Given the description of an element on the screen output the (x, y) to click on. 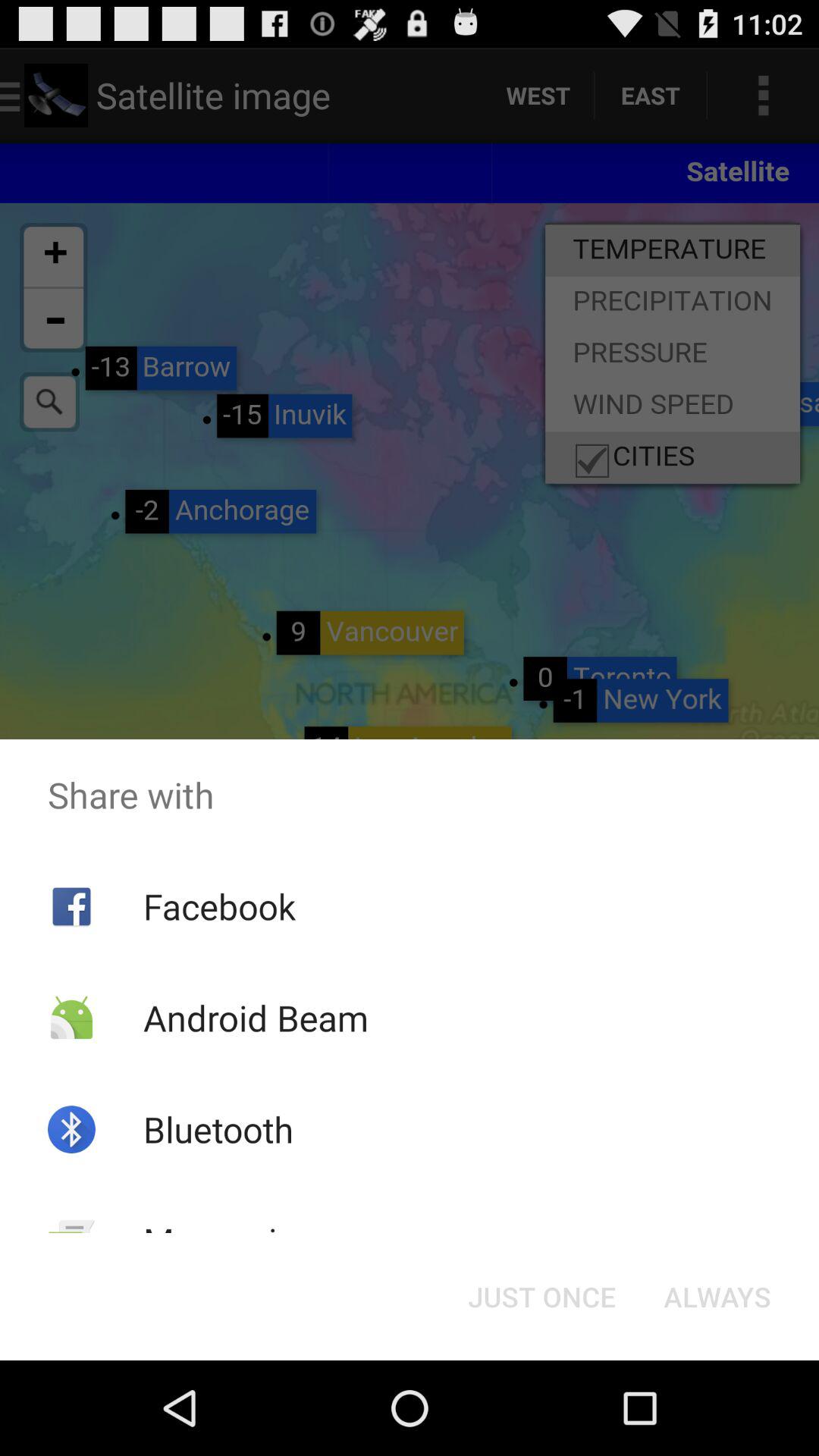
choose icon to the right of the messaging app (541, 1296)
